Given the description of an element on the screen output the (x, y) to click on. 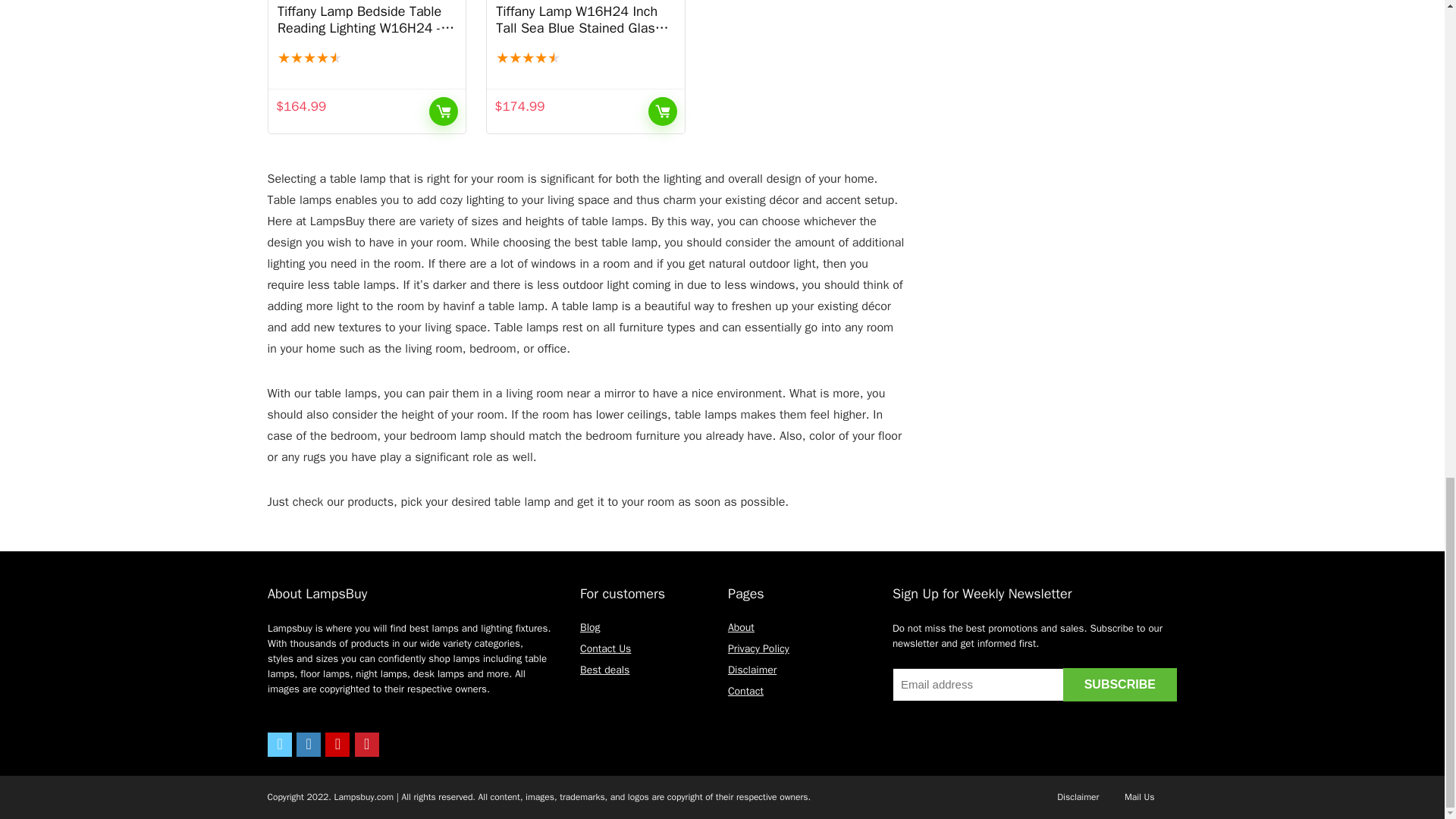
Rated 9 out of 10 (367, 57)
Rated 9.5 out of 10 (585, 57)
Subscribe (1119, 684)
